Given the description of an element on the screen output the (x, y) to click on. 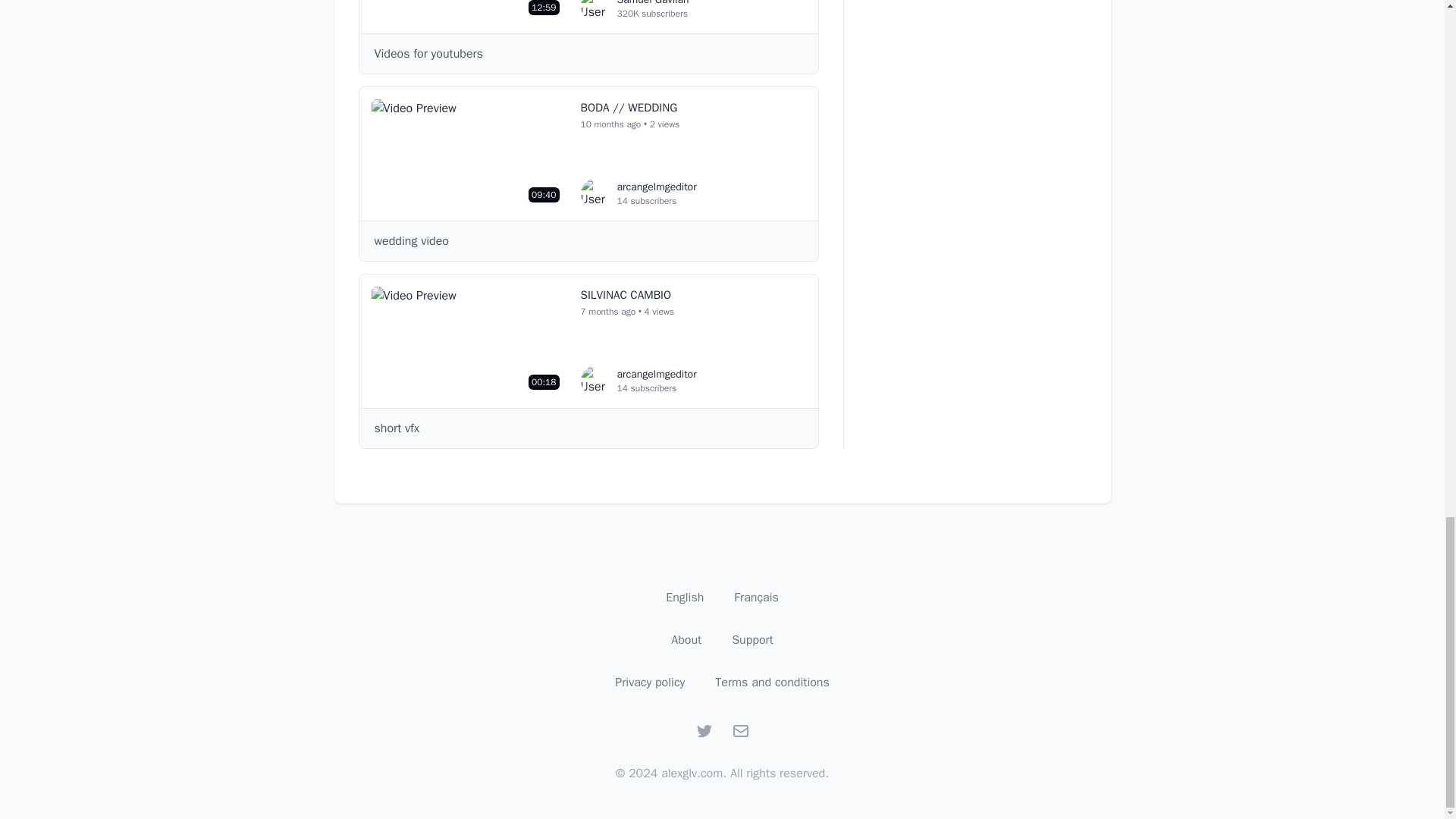
English (684, 597)
Email (739, 730)
Twitter logo (703, 730)
09:40 (468, 153)
Privacy policy (649, 682)
Support (752, 639)
00:18 (468, 340)
Twitter (703, 730)
Terms and conditions (771, 682)
12:59 (638, 193)
About (468, 10)
